Given the description of an element on the screen output the (x, y) to click on. 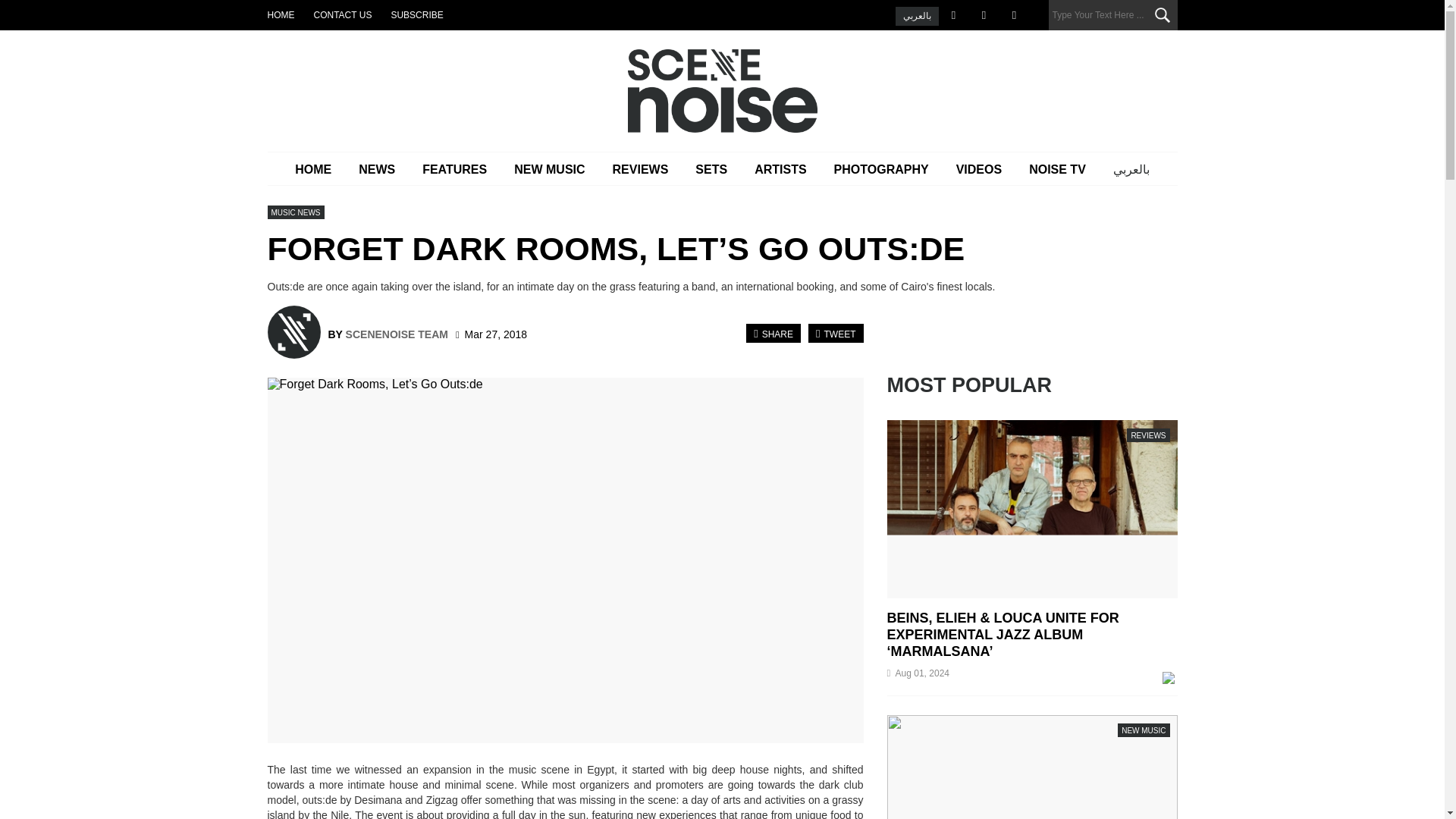
REVIEWS (640, 169)
SETS (711, 169)
SUBSCRIBE (416, 15)
VIDEOS (978, 169)
PHOTOGRAPHY (881, 169)
NEW MUSIC (549, 169)
NOISE TV (1056, 169)
ARTISTS (780, 169)
FEATURES (454, 169)
HOME (280, 15)
